Given the description of an element on the screen output the (x, y) to click on. 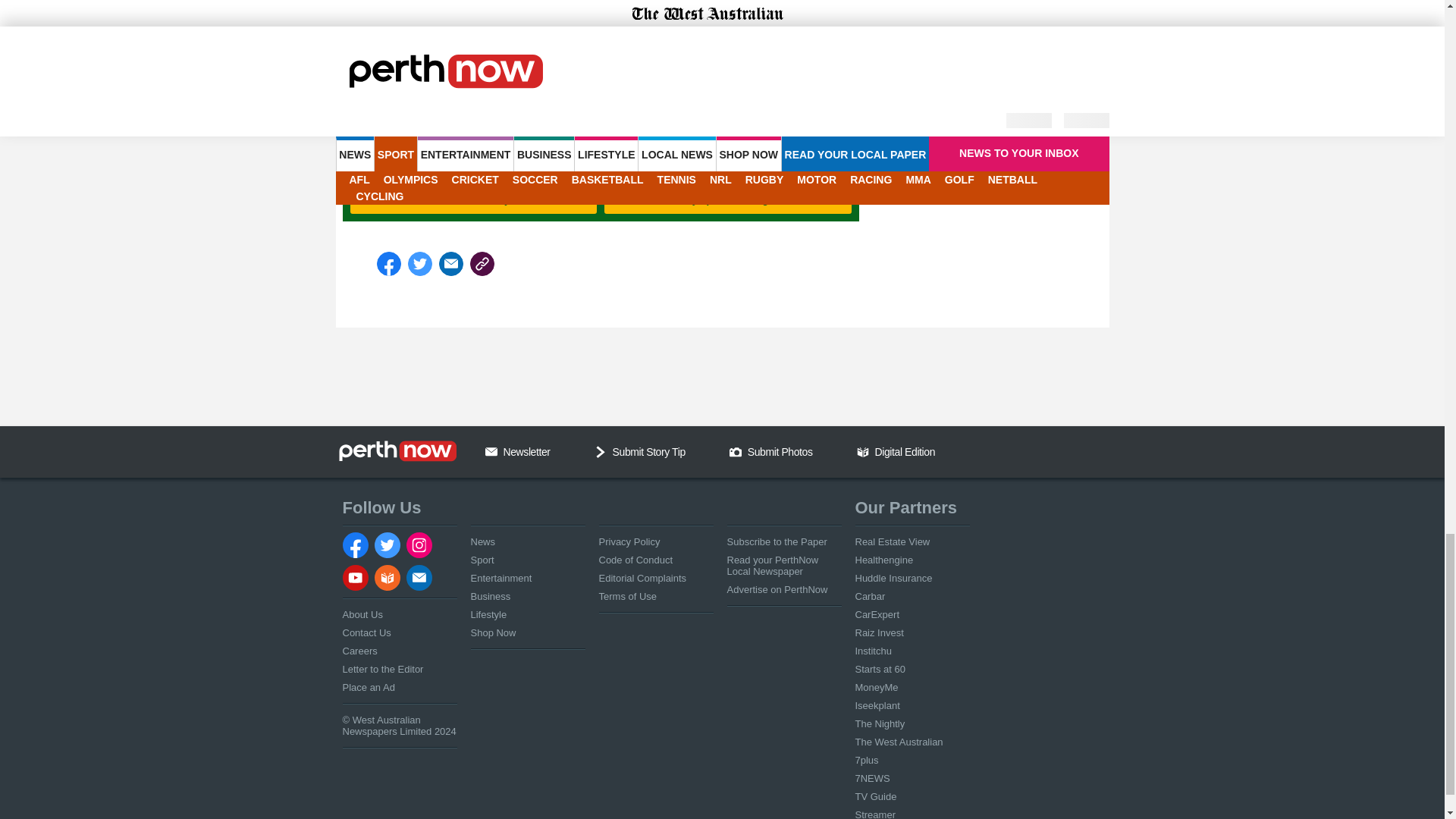
Email Us (490, 451)
Camera Icon (735, 451)
Chevron Down Icon (600, 451)
